Given the description of an element on the screen output the (x, y) to click on. 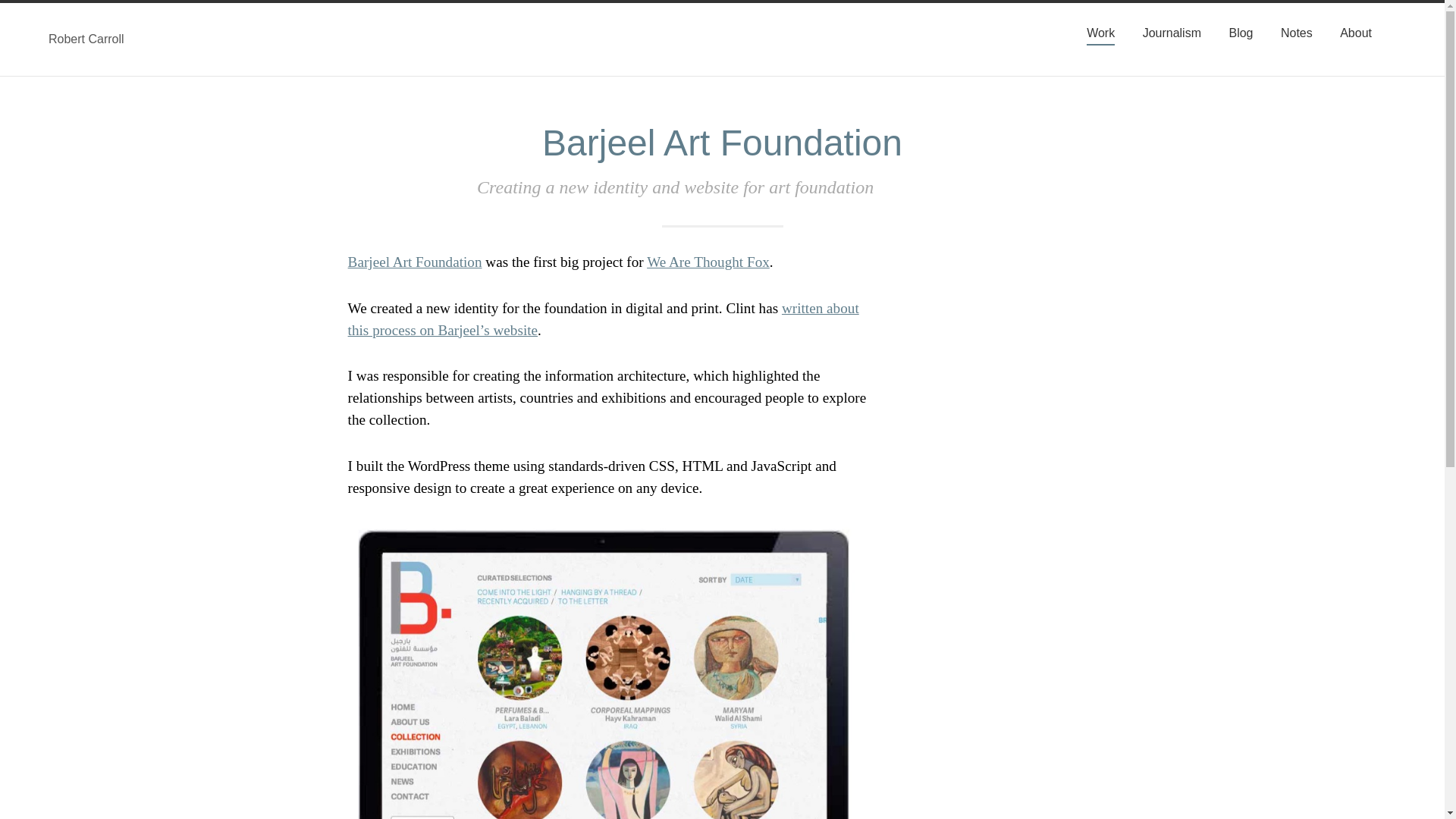
Barjeel Art Foundation (414, 261)
About (1355, 33)
We Are Thought Fox (708, 261)
Journalism (1171, 33)
Home (216, 39)
Robert Carroll (216, 39)
Blog (1240, 33)
Work (1100, 33)
Notes (1297, 33)
